Given the description of an element on the screen output the (x, y) to click on. 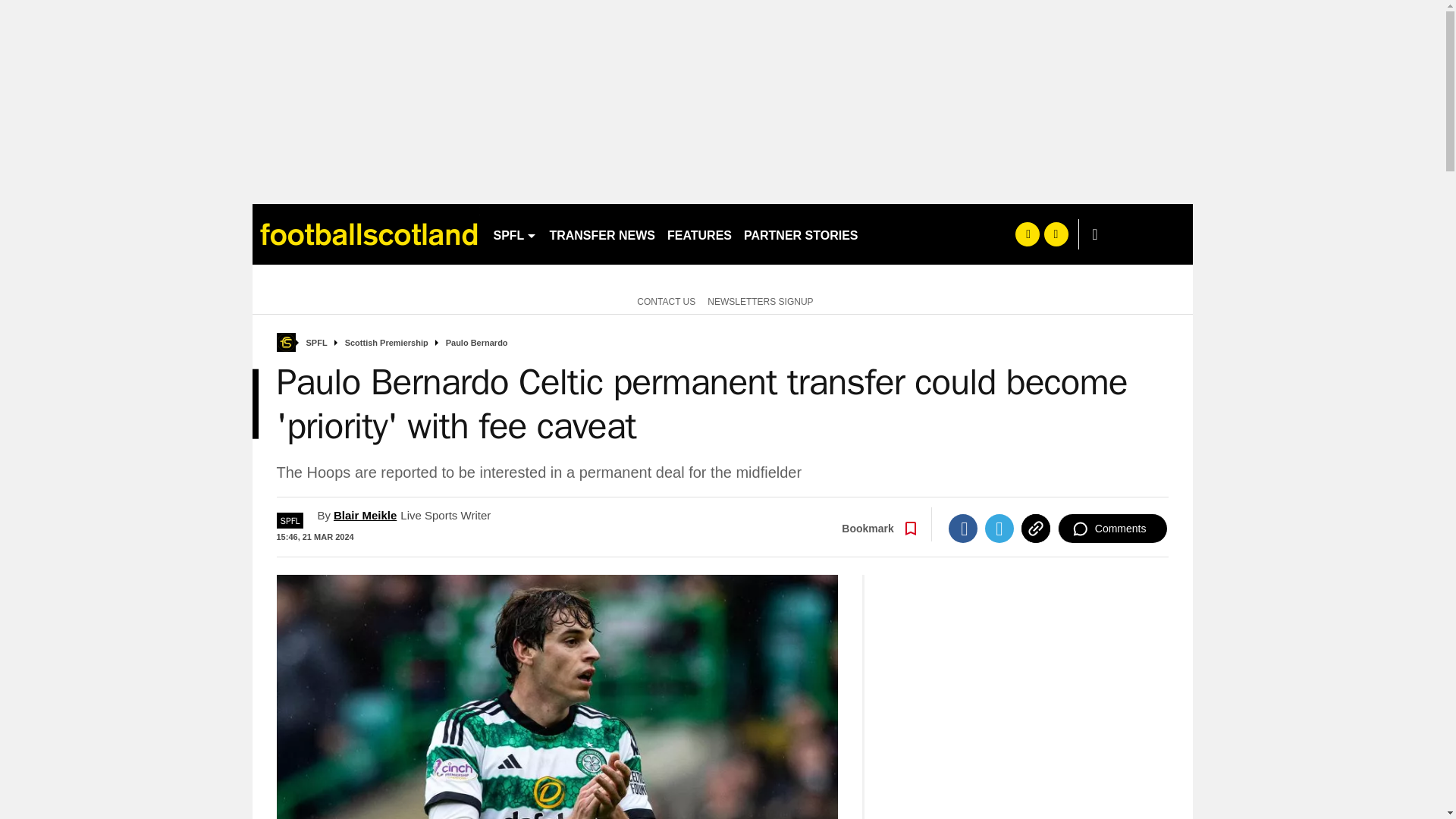
Comments (1112, 528)
frontpage (285, 342)
CONTACT US (662, 300)
SPFL (514, 233)
Comments (1112, 528)
twitter (1055, 233)
SPFL (289, 520)
Paulo Bernardo (476, 343)
Twitter (999, 528)
FEATURES (699, 233)
Scottish Premiership (386, 343)
PARTNER STORIES (801, 233)
SPFL (316, 343)
Blair Meikle (364, 514)
TRANSFER NEWS (602, 233)
